Given the description of an element on the screen output the (x, y) to click on. 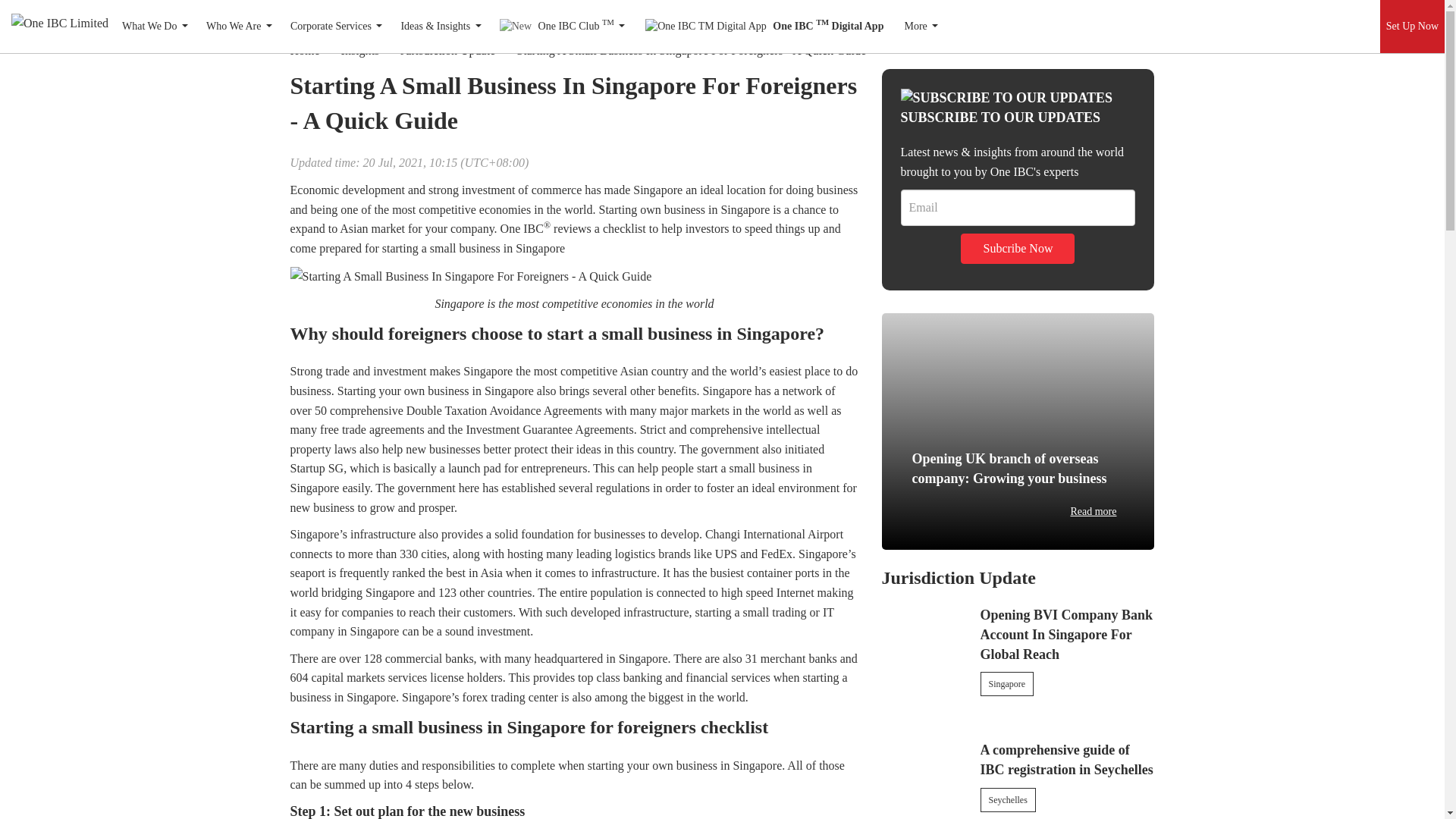
East Timor (1141, 19)
Hong Kong (172, 16)
East Timor (1173, 15)
